Given the description of an element on the screen output the (x, y) to click on. 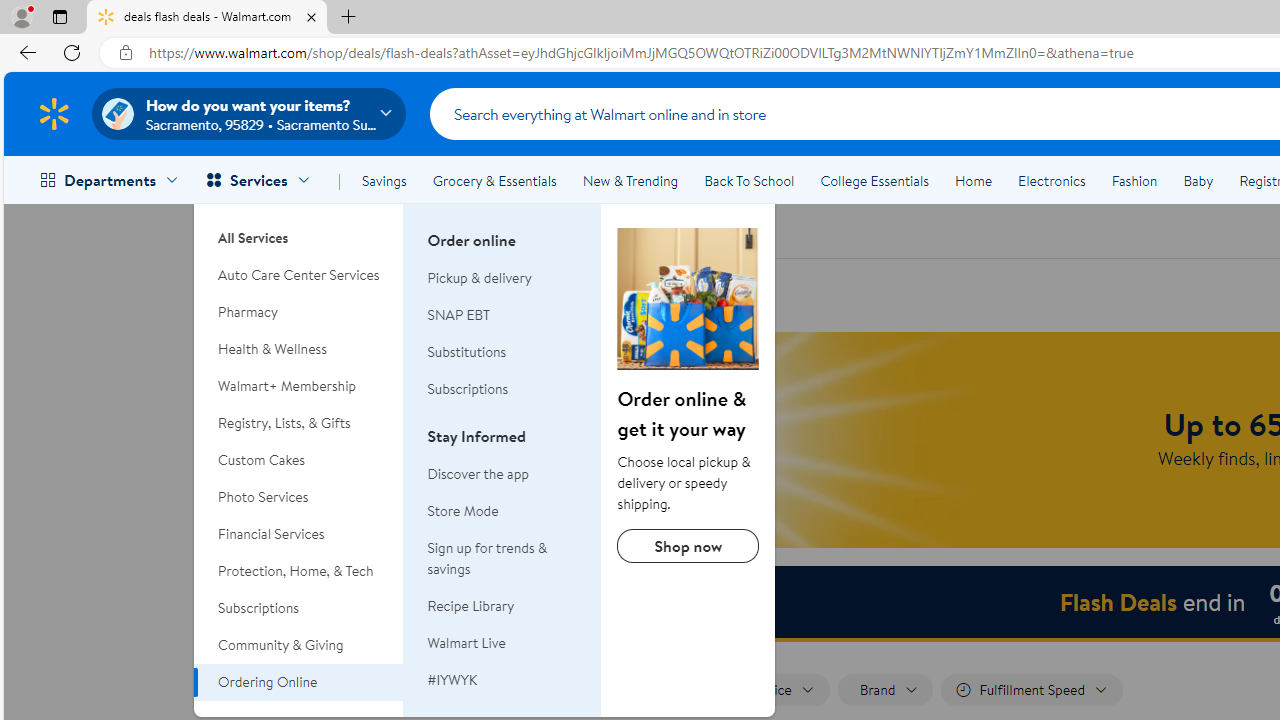
Filter by Price not applied, activate to change (775, 690)
SNAP EBT (459, 314)
Auto Care Center Services (299, 275)
Protection, Home, & Tech (299, 570)
Discover the app (477, 473)
Financial Services (299, 534)
Grocery & Essentials (493, 180)
Health & Wellness (299, 349)
Registry, Lists, & Gifts (299, 423)
Pickup & delivery (502, 277)
Recipe Library (470, 606)
